Given the description of an element on the screen output the (x, y) to click on. 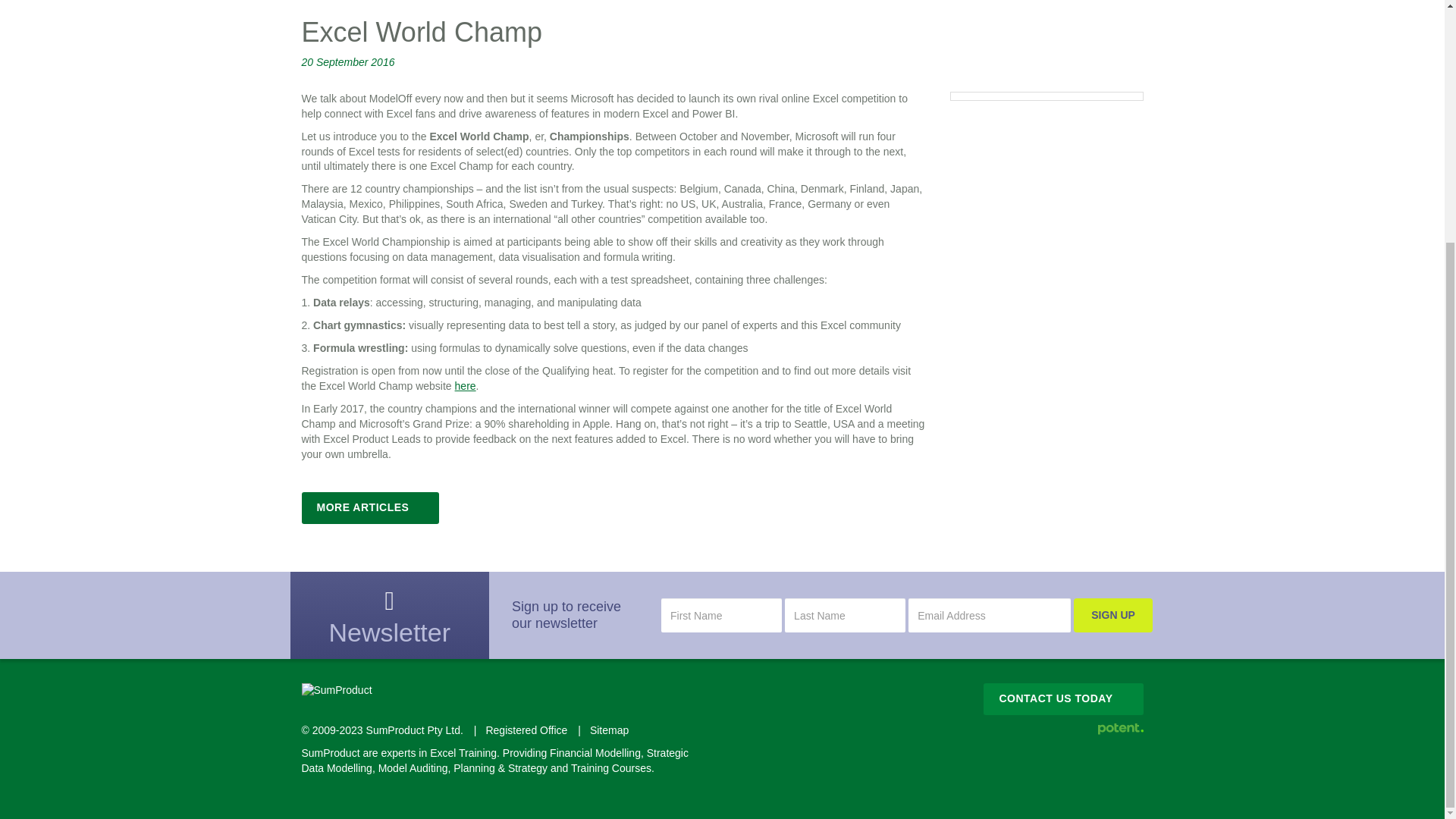
Registered Office (525, 729)
CONTACT US TODAY (1063, 698)
MORE ARTICLES (370, 508)
Sitemap (608, 729)
SIGN UP (1113, 615)
here (465, 386)
